Given the description of an element on the screen output the (x, y) to click on. 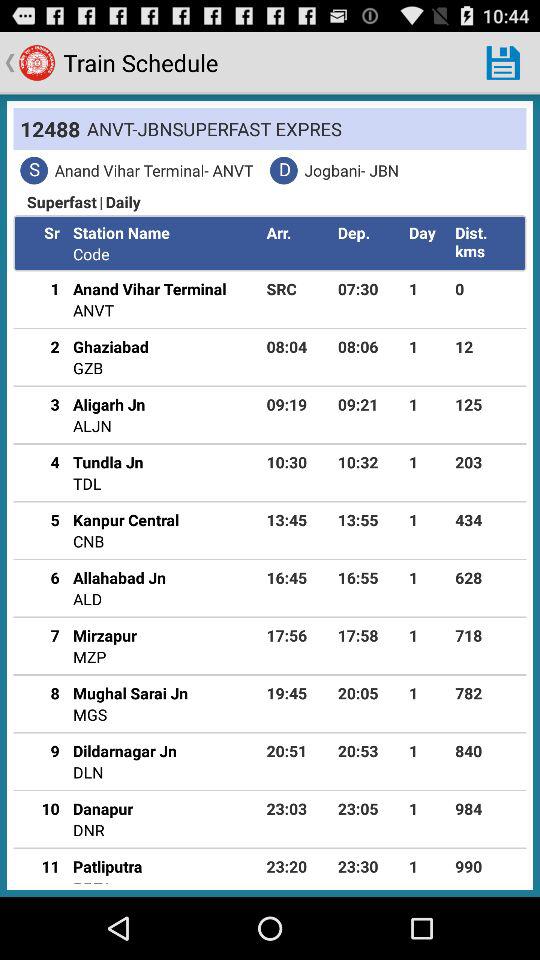
open the ghaziabad app (110, 346)
